Given the description of an element on the screen output the (x, y) to click on. 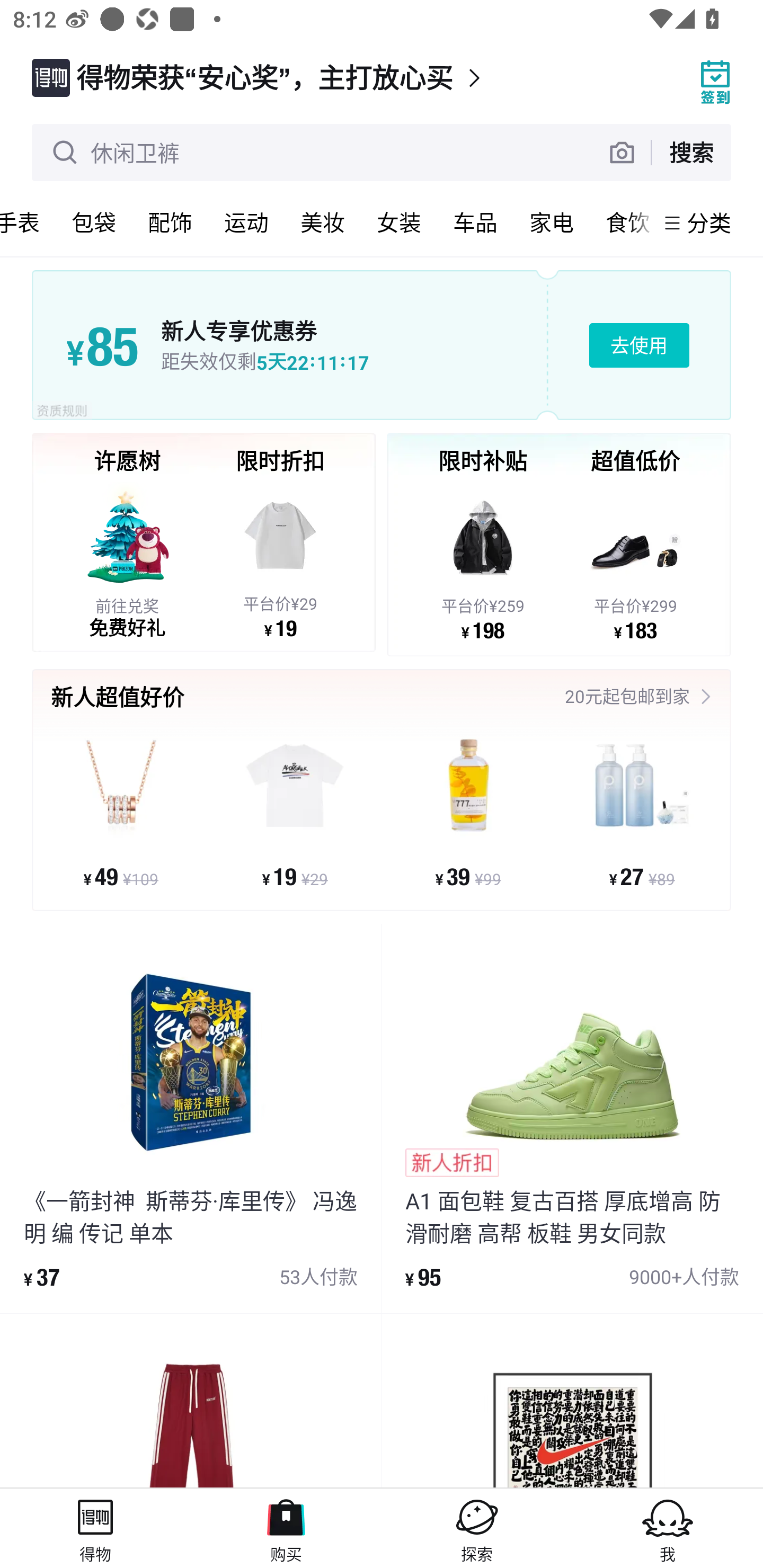
搜索 (690, 152)
手表 (27, 222)
包袋 (93, 222)
配饰 (169, 222)
运动 (246, 222)
美妆 (322, 222)
女装 (398, 222)
车品 (475, 222)
家电 (551, 222)
食饮 (621, 222)
分类 (708, 222)
平台价¥29 ¥ 19 (279, 559)
前往兑奖 免费好礼 (127, 559)
平台价¥259 ¥ 198 (482, 560)
平台价¥299 ¥ 183 (635, 560)
¥ 49 ¥109 (121, 813)
¥ 19 ¥29 (294, 813)
¥ 39 ¥99 (468, 813)
¥ 27 ¥89 (641, 813)
product_item (572, 1400)
得物 (95, 1528)
购买 (285, 1528)
探索 (476, 1528)
我 (667, 1528)
